Given the description of an element on the screen output the (x, y) to click on. 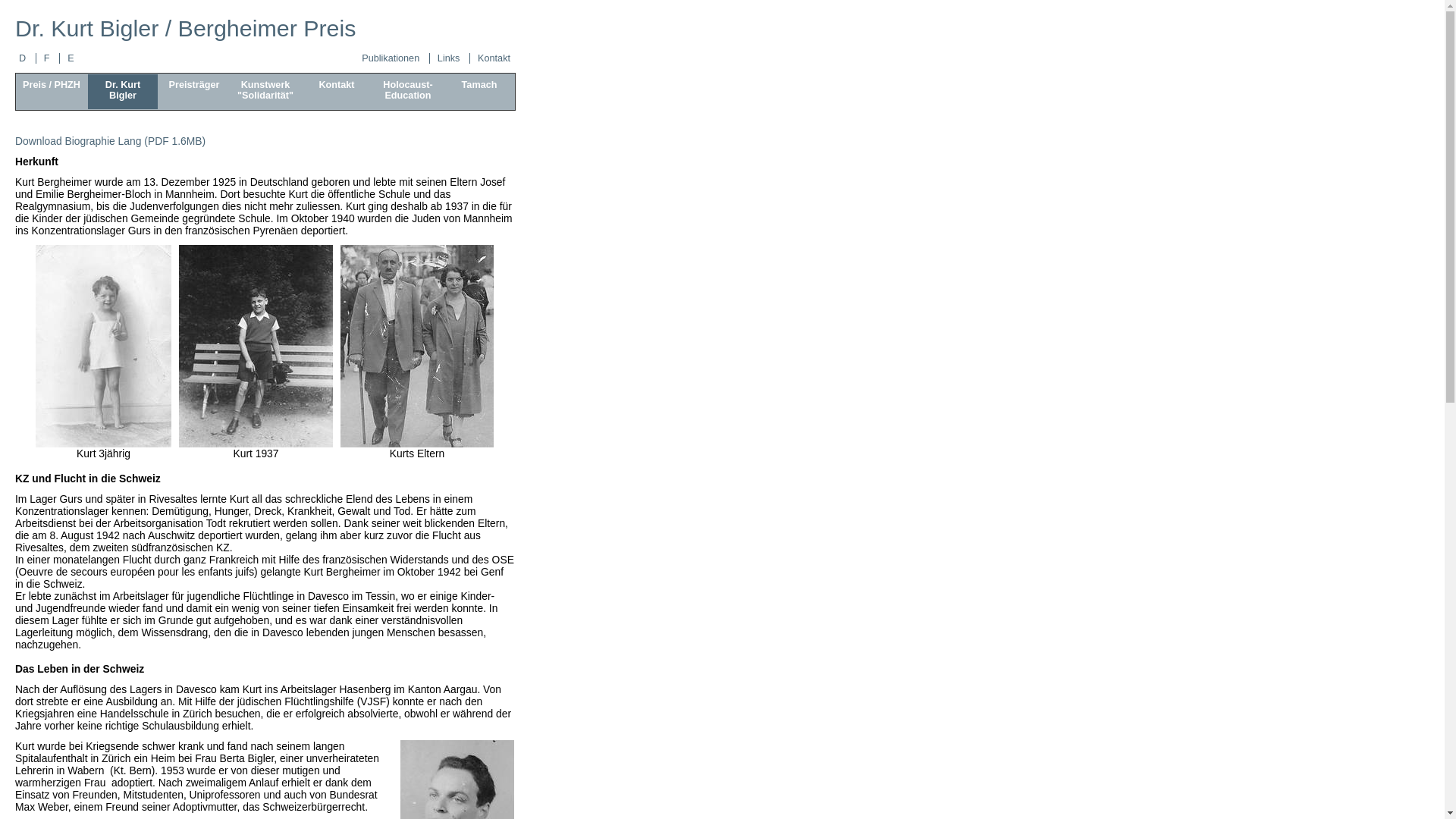
Preis / PHZH Element type: text (51, 91)
Links Element type: text (453, 58)
Kontakt Element type: text (493, 58)
F Element type: text (51, 58)
Kontakt Element type: text (336, 91)
Tamach Element type: text (479, 91)
D Element type: text (27, 58)
E Element type: text (70, 58)
Publikationen Element type: text (395, 58)
Holocaust- Education Element type: text (407, 91)
Download Biographie Lang (PDF 1.6MB) Element type: text (110, 140)
Dr. Kurt Bigler Element type: text (122, 91)
Dr. Kurt Bigler / Bergheimer Preis Element type: text (185, 27)
